Given the description of an element on the screen output the (x, y) to click on. 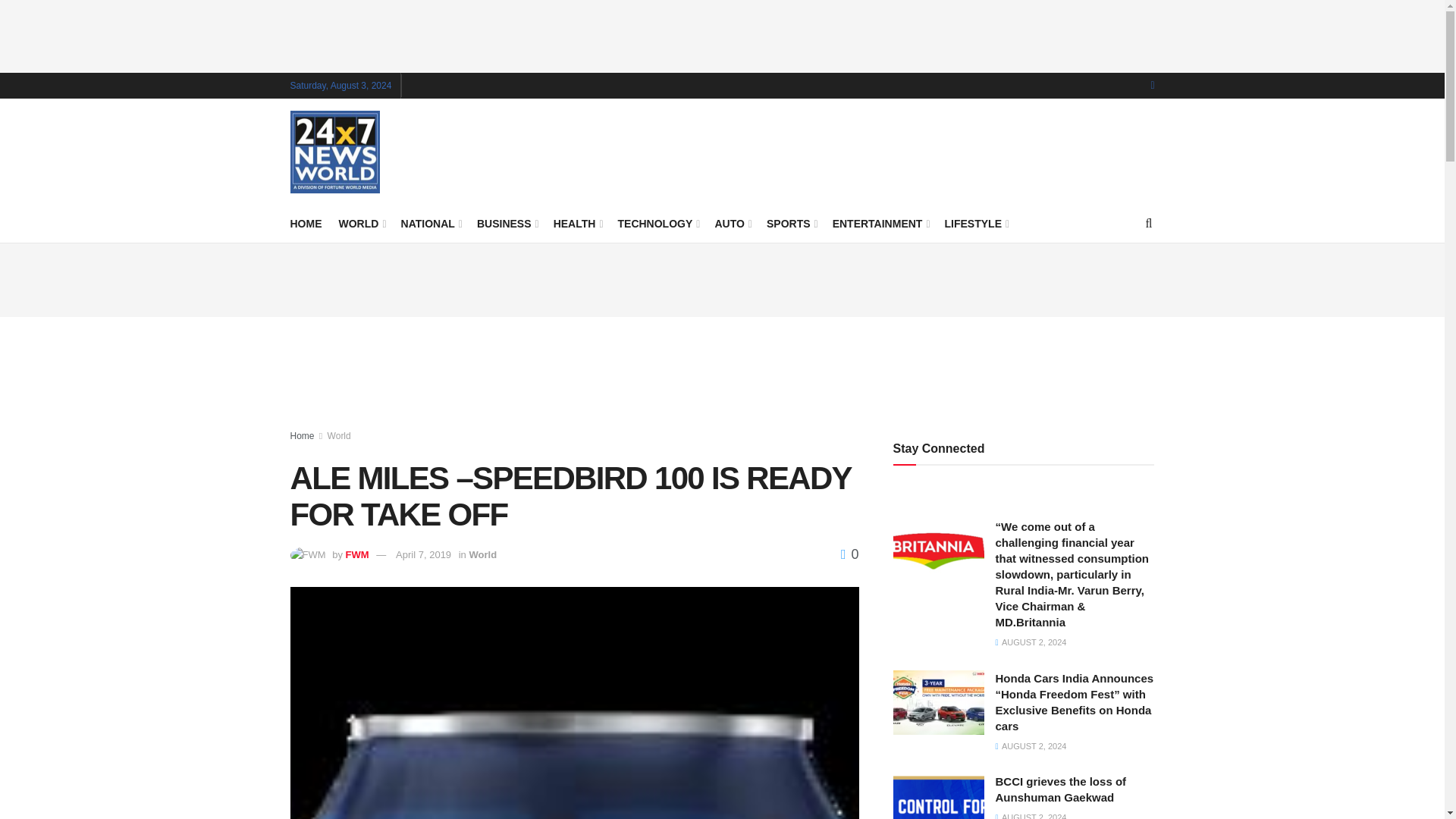
BUSINESS (507, 223)
NATIONAL (430, 223)
HEALTH (577, 223)
HOME (305, 223)
WORLD (360, 223)
